Given the description of an element on the screen output the (x, y) to click on. 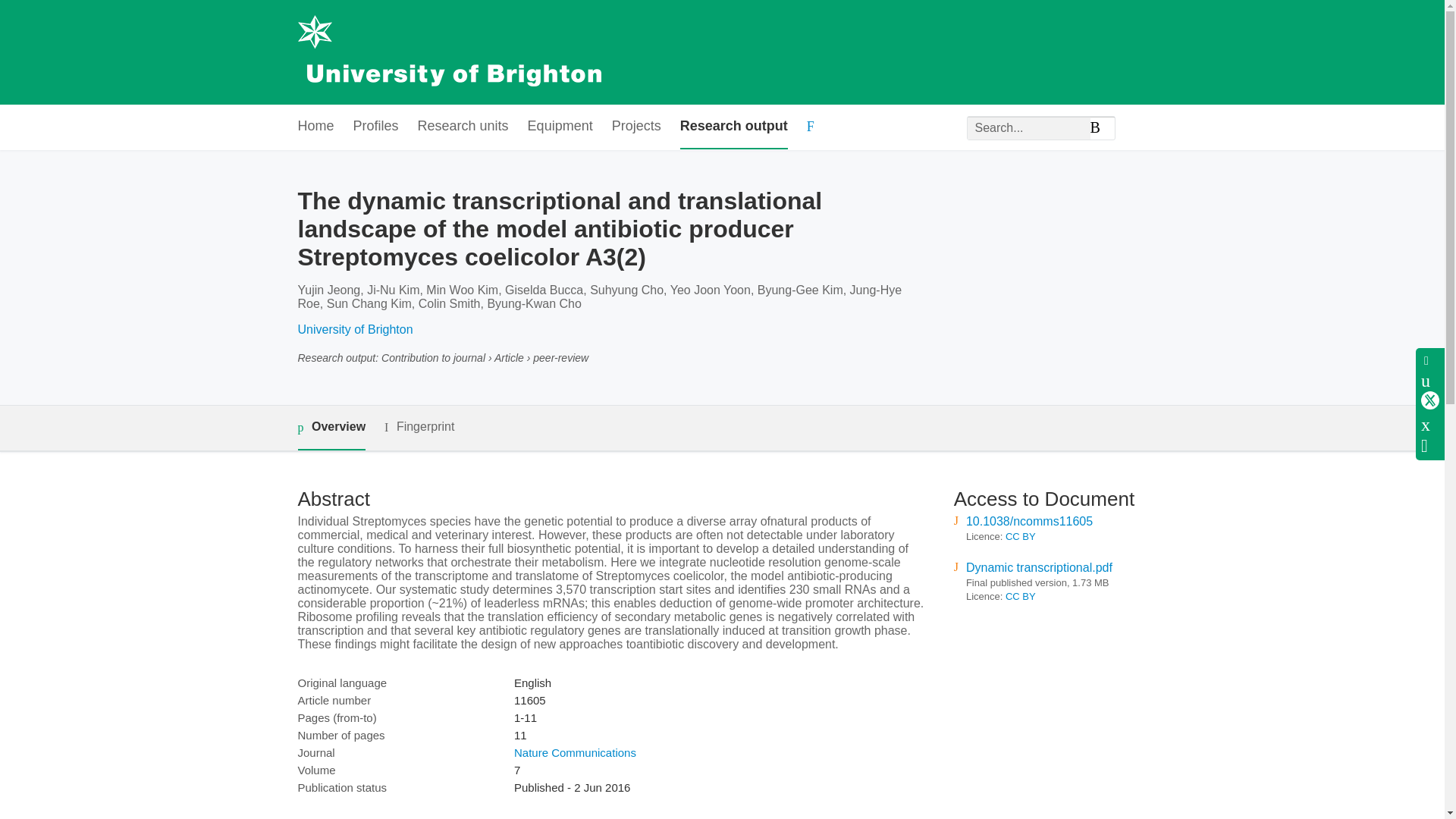
Profiles (375, 126)
The University of Brighton Home (448, 52)
Equipment (559, 126)
CC BY (1020, 595)
Research units (462, 126)
Dynamic transcriptional.pdf (1039, 567)
Nature Communications (574, 752)
Projects (636, 126)
Fingerprint (419, 426)
